Given the description of an element on the screen output the (x, y) to click on. 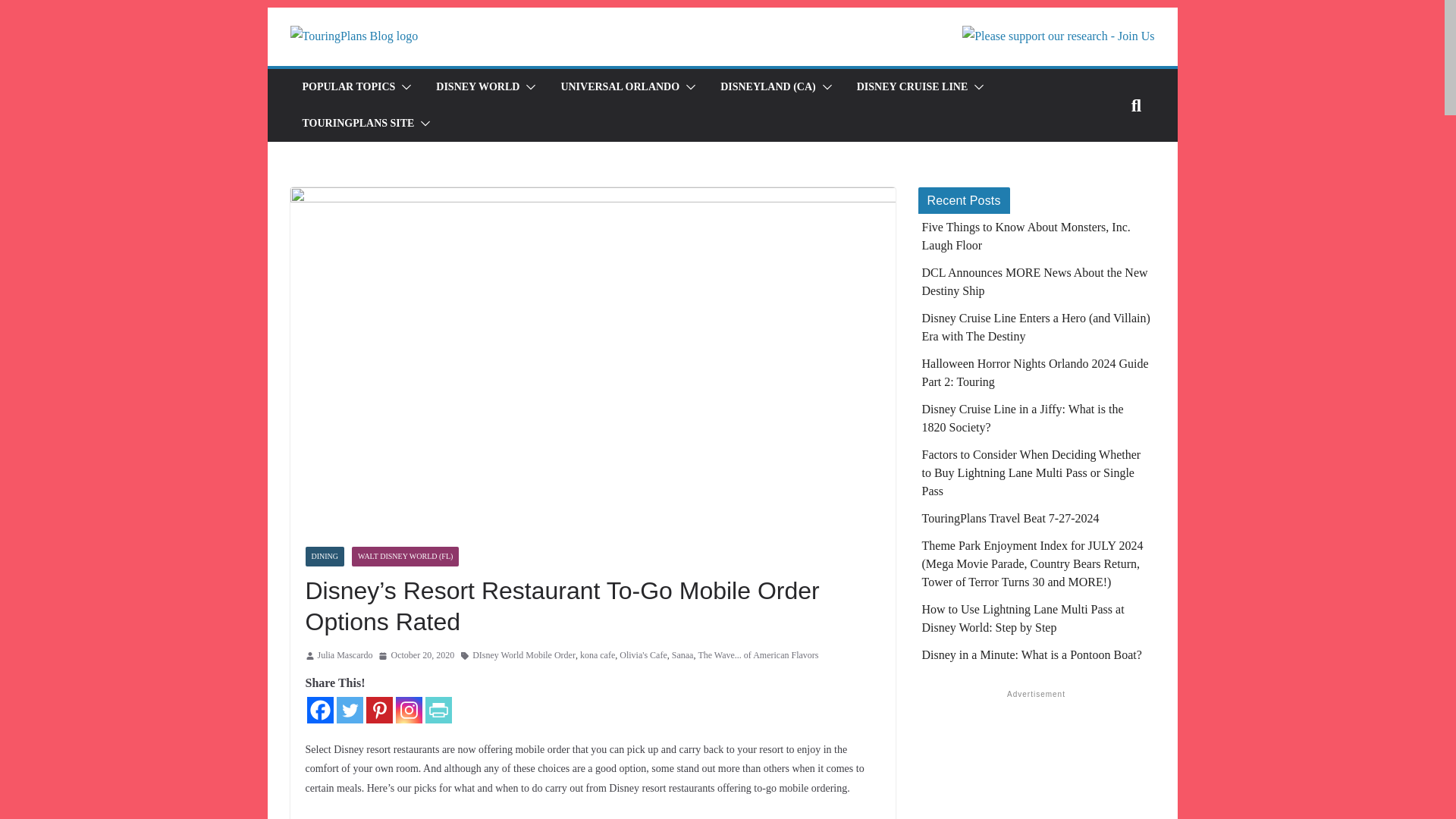
DISNEY CRUISE LINE (912, 86)
UNIVERSAL ORLANDO (619, 86)
1:00 pm (416, 655)
Instagram (409, 709)
Twitter (349, 709)
Facebook (319, 709)
Julia Mascardo (344, 655)
POPULAR TOPICS (347, 86)
Pinterest (378, 709)
PrintFriendly (438, 709)
DISNEY WORLD (477, 86)
TOURINGPLANS SITE (357, 123)
